Given the description of an element on the screen output the (x, y) to click on. 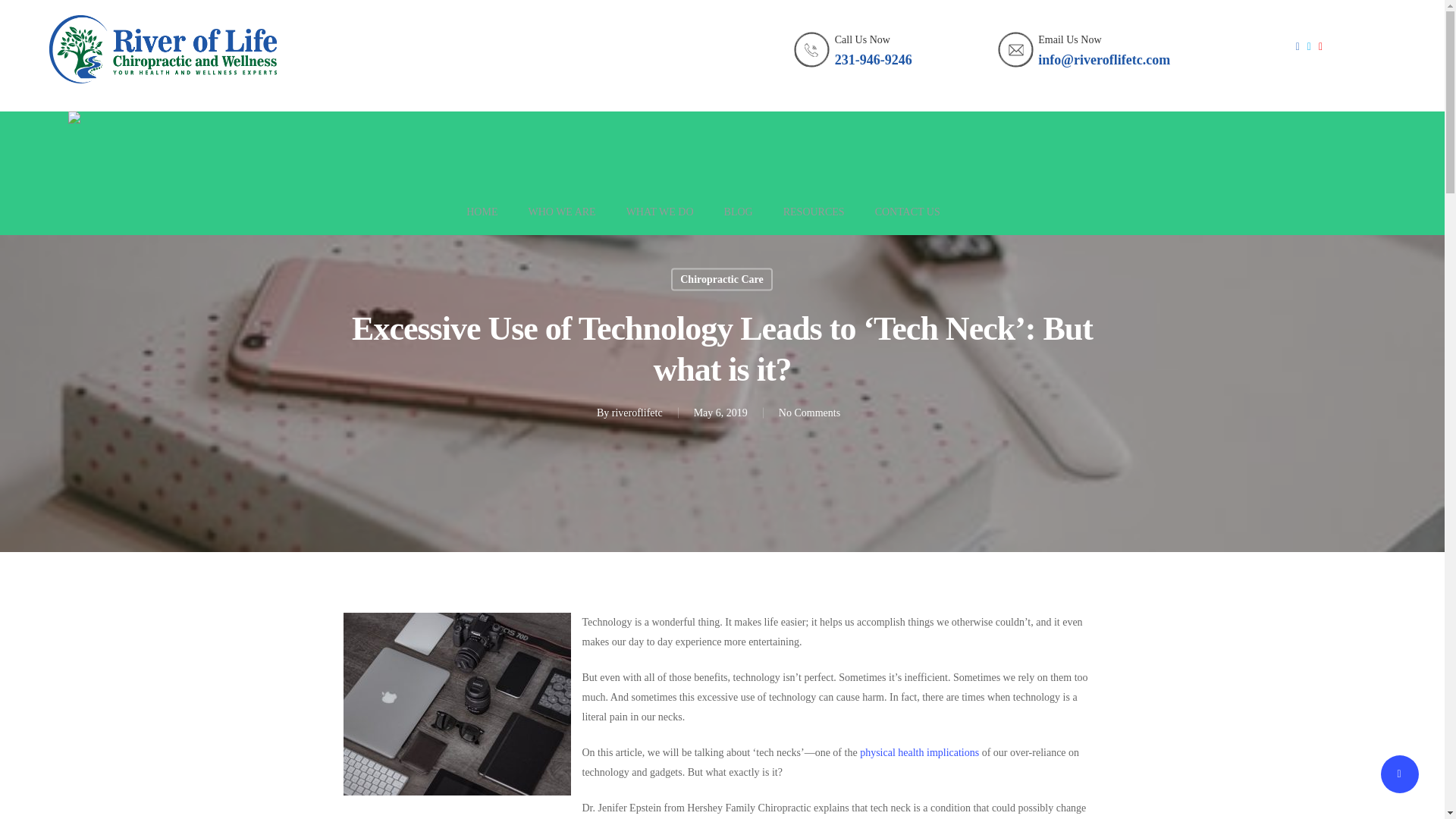
RESOURCES (813, 219)
riveroflifetc (636, 411)
HOME (481, 219)
physical health implications (919, 752)
231-946-9246 (873, 59)
Chiropractic Care (722, 279)
BLOG (737, 219)
WHO WE ARE (561, 219)
CONTACT US (907, 219)
WHAT WE DO (660, 219)
Posts by riveroflifetc (636, 411)
No Comments (809, 411)
